Given the description of an element on the screen output the (x, y) to click on. 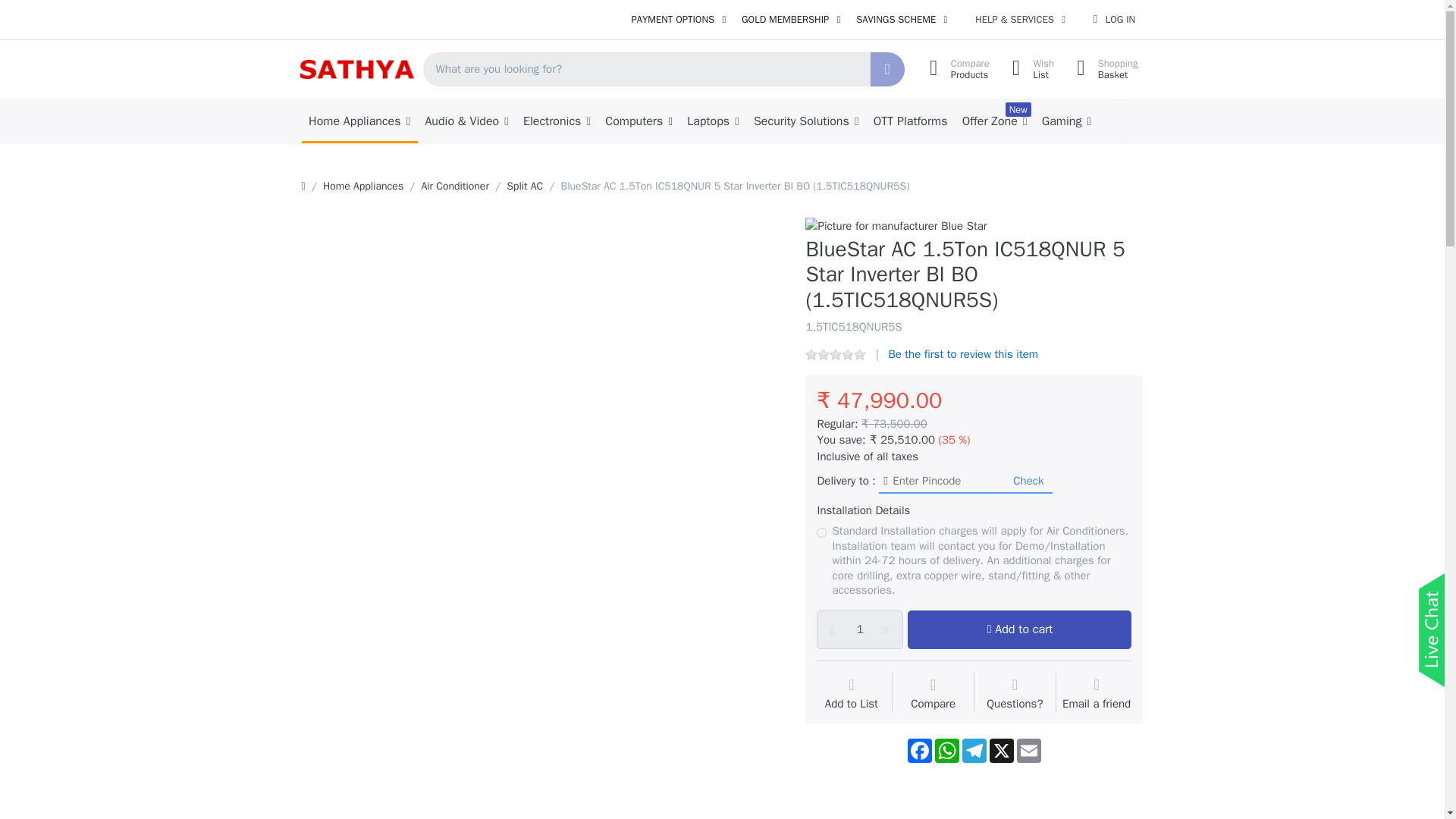
PAYMENT OPTIONS (678, 19)
1 (859, 629)
Electronics (1102, 69)
Home Appliances (555, 121)
Add to wishlist (359, 121)
SATHYA (850, 694)
7172 (356, 68)
Air Conditioner (821, 532)
Security Solutions (453, 186)
Search (1028, 69)
Home Appliances (954, 69)
LOG IN (805, 121)
